Given the description of an element on the screen output the (x, y) to click on. 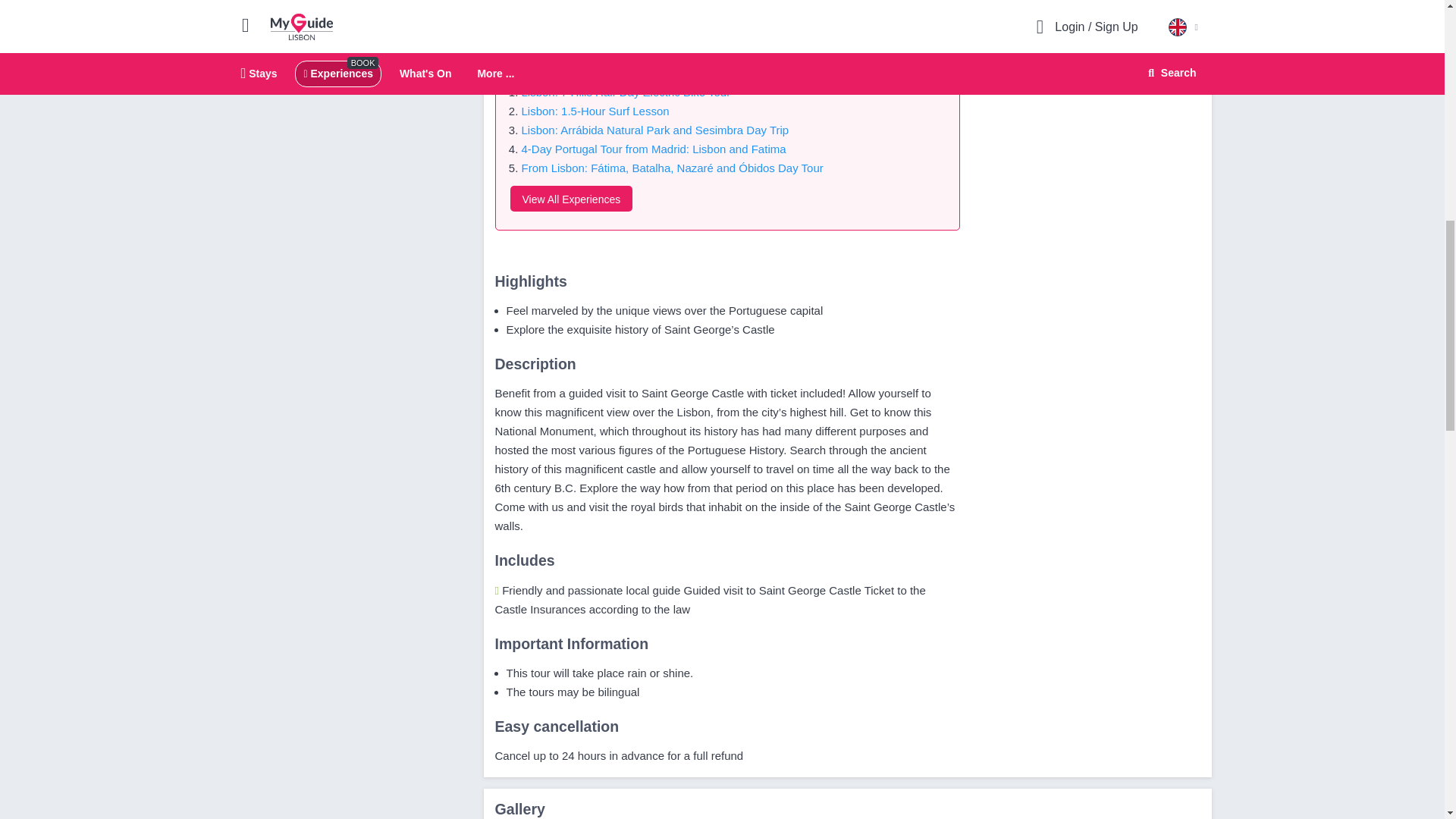
View All Experiences (570, 198)
